Given the description of an element on the screen output the (x, y) to click on. 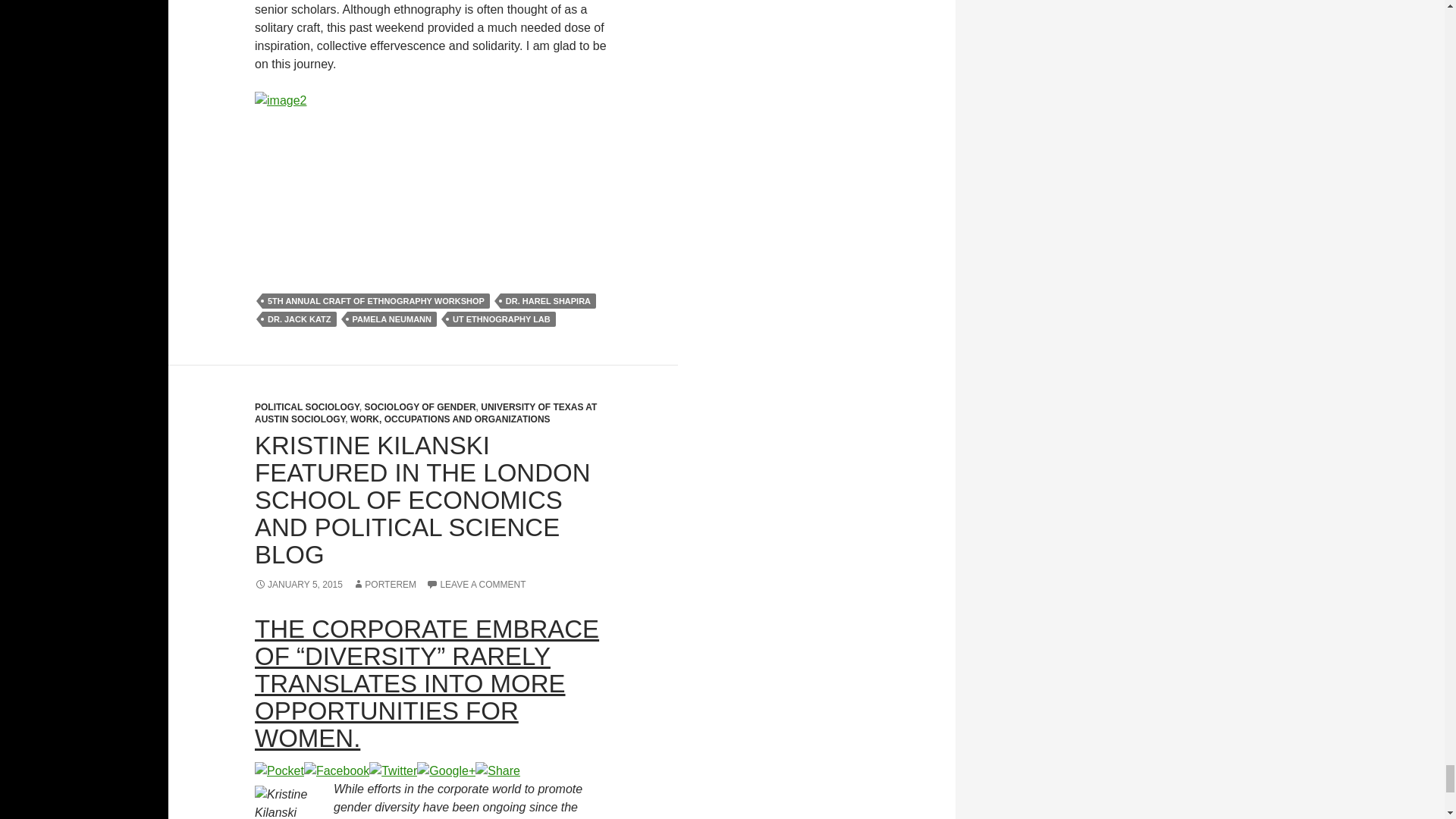
Facebook (336, 769)
Twitter (392, 769)
Pocket (279, 769)
